Given the description of an element on the screen output the (x, y) to click on. 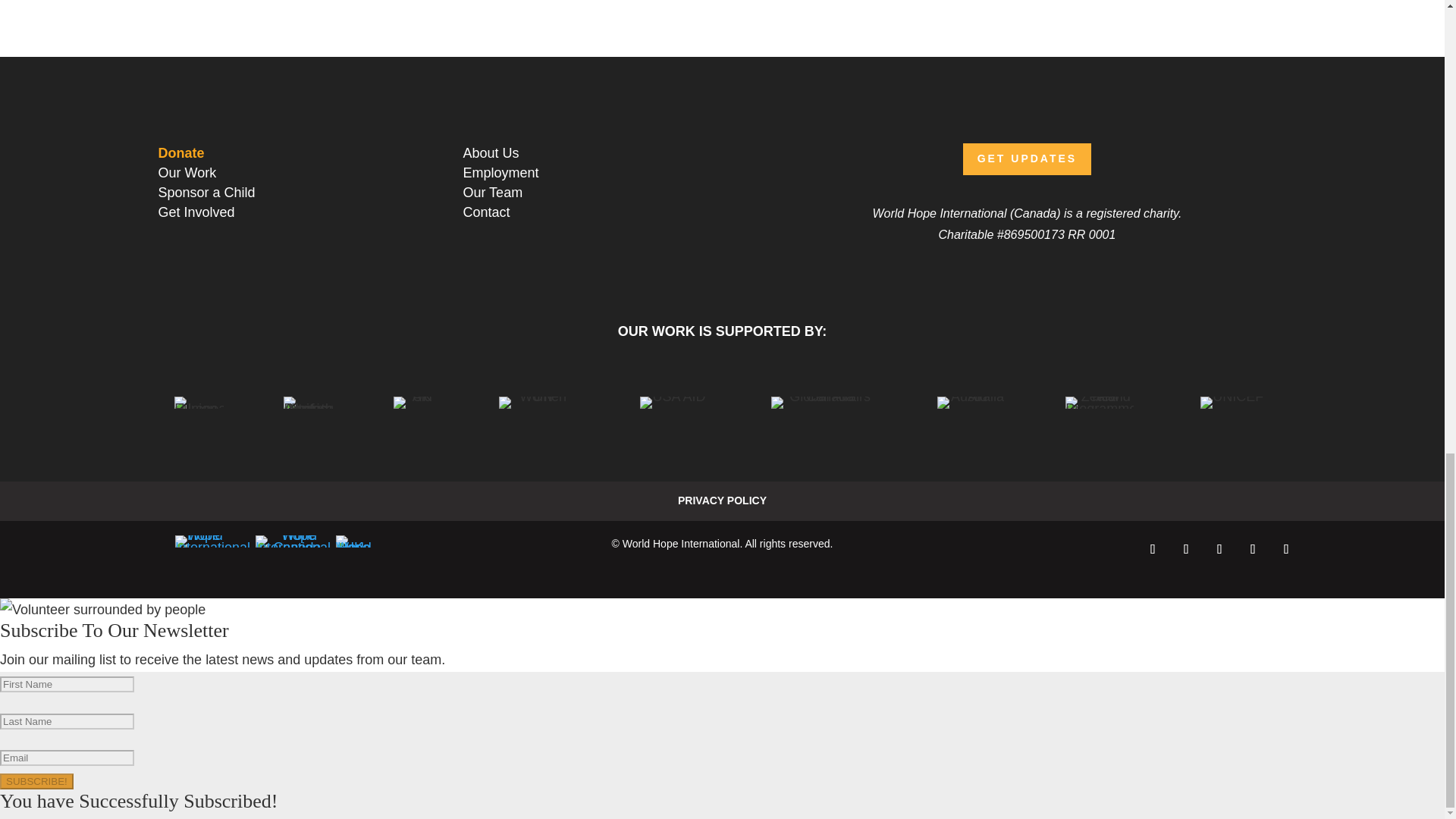
UK Aid (416, 402)
UN Women (537, 402)
Department of United States of America (308, 402)
European Union (199, 402)
